Given the description of an element on the screen output the (x, y) to click on. 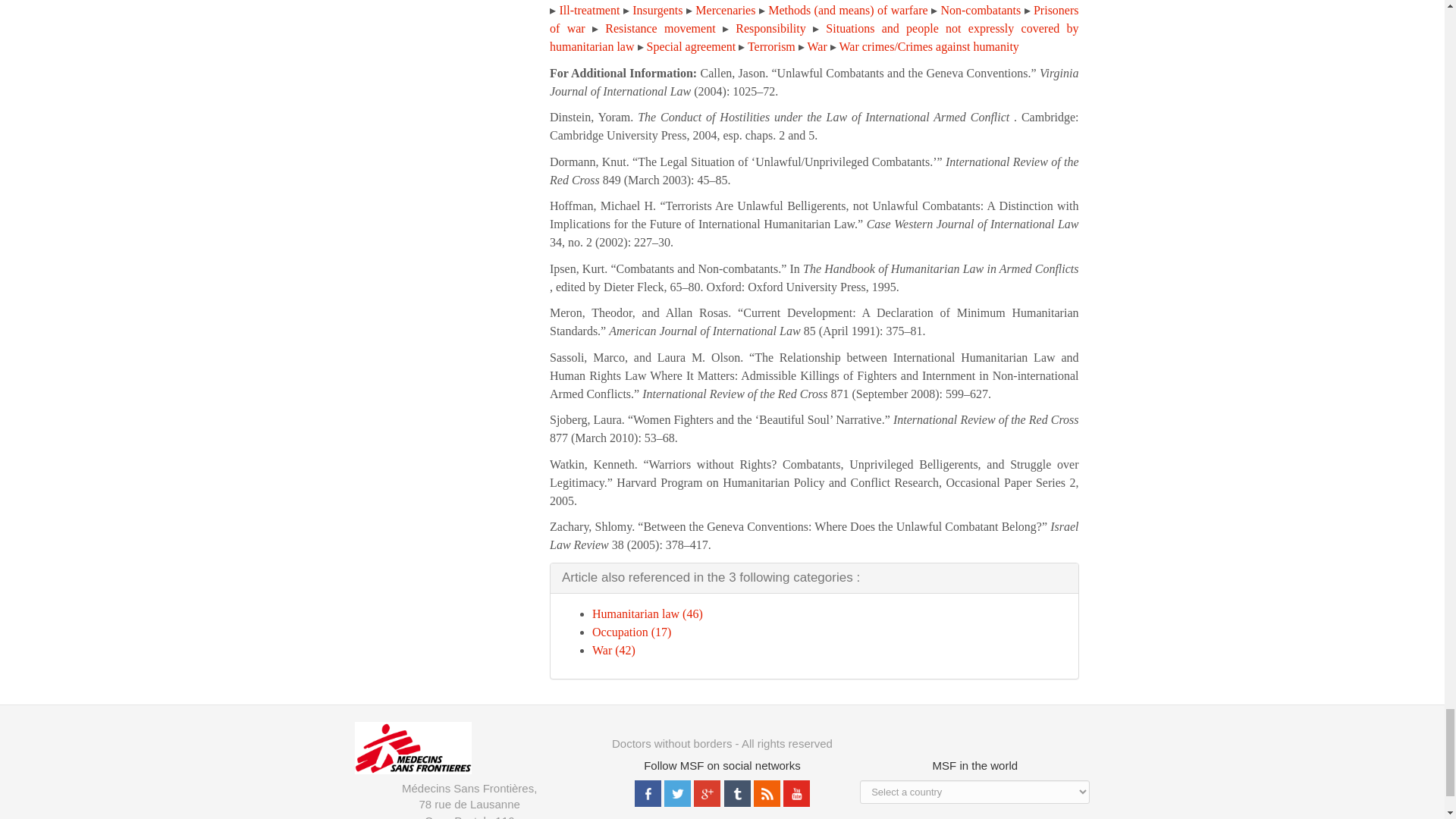
Twitter (678, 792)
Tumblr (738, 792)
Facebook (648, 792)
Google (708, 792)
Rss (768, 792)
Youtube (796, 792)
